Given the description of an element on the screen output the (x, y) to click on. 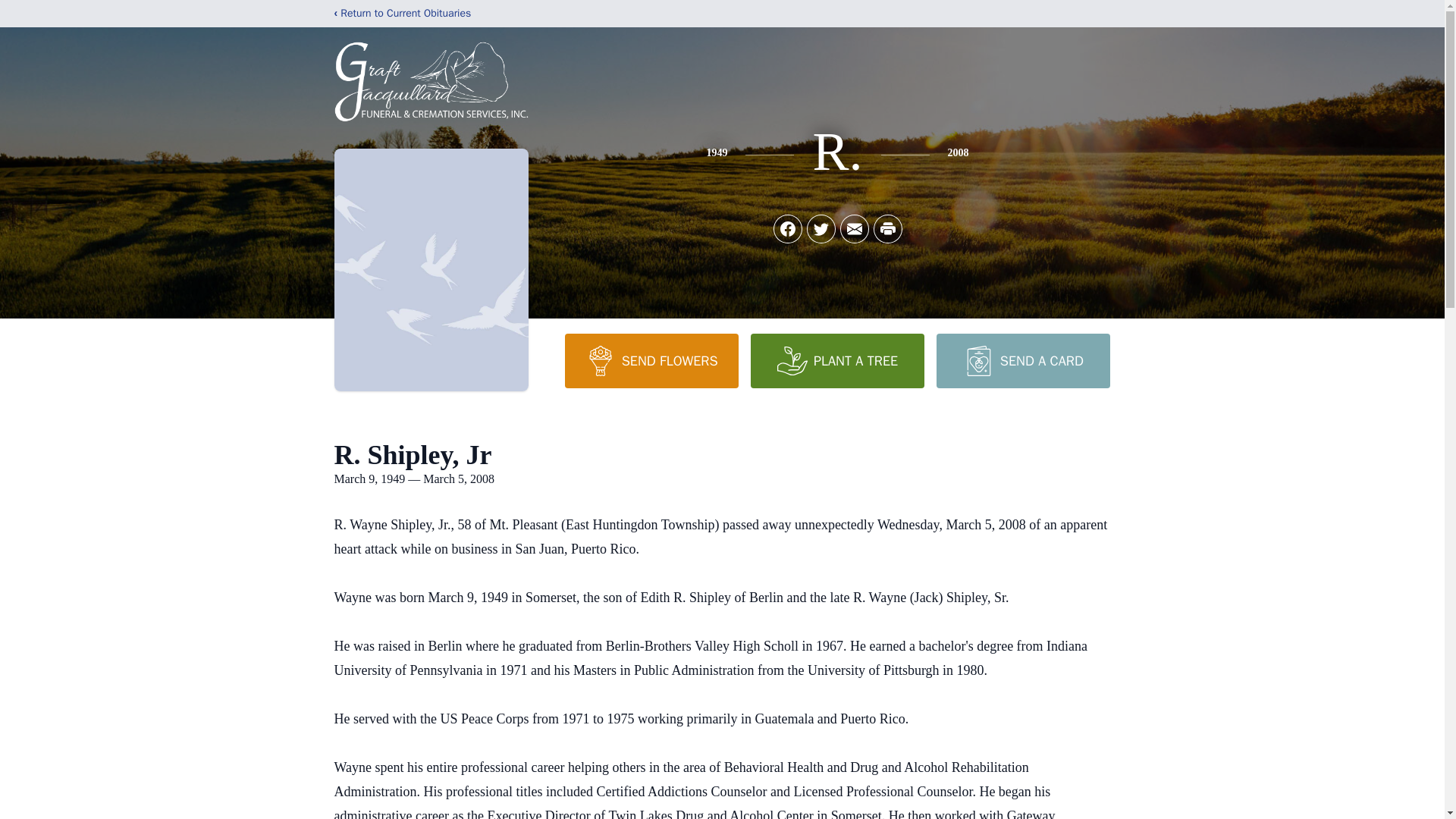
PLANT A TREE (837, 360)
SEND FLOWERS (651, 360)
SEND A CARD (1022, 360)
